Given the description of an element on the screen output the (x, y) to click on. 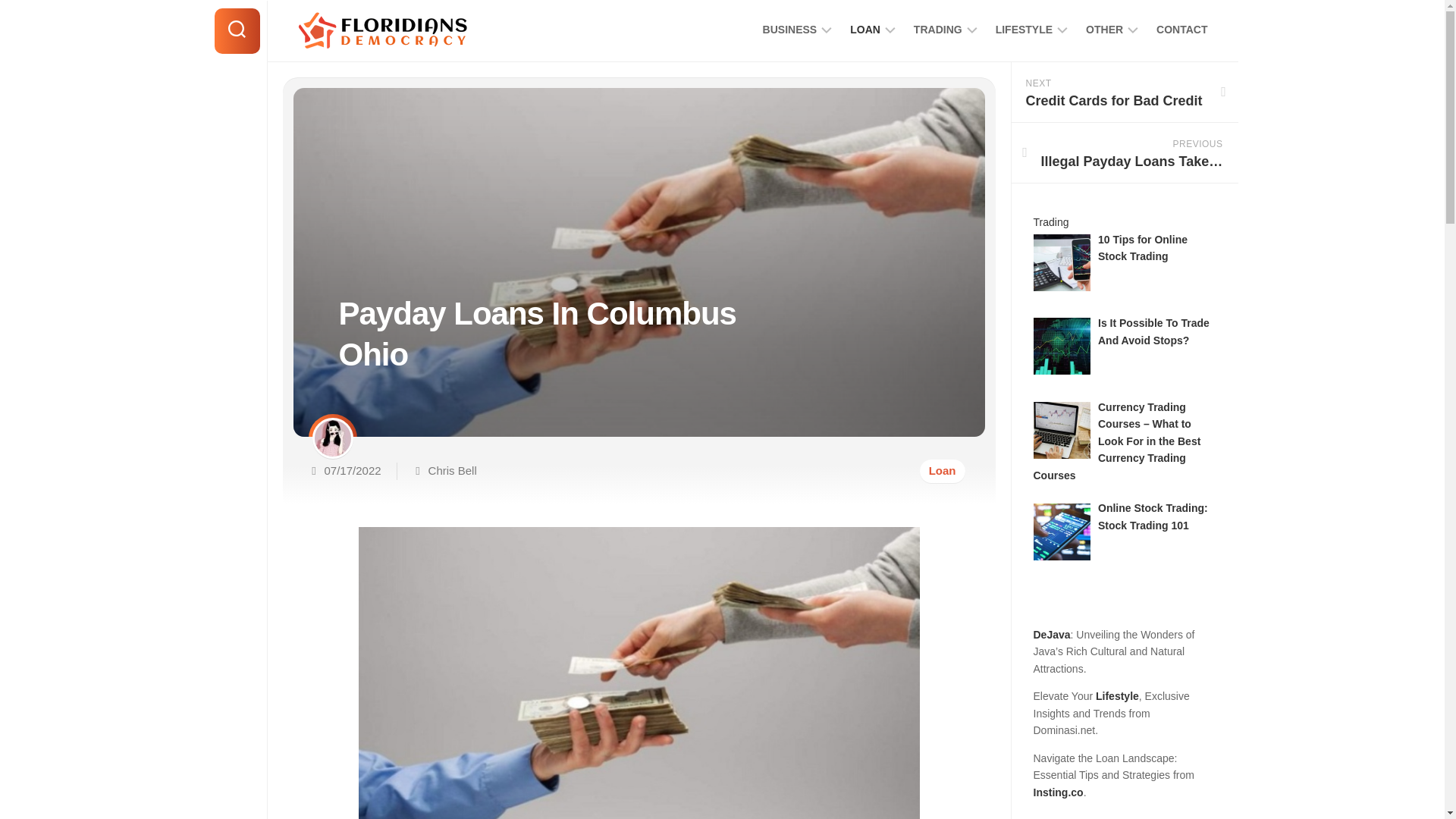
TRADING (751, 31)
LOAN (938, 29)
Posts by Chris Bell (865, 29)
CONTACT (452, 470)
LIFESTYLE (1181, 29)
BUSINESS (1023, 29)
OTHER (789, 29)
